Given the description of an element on the screen output the (x, y) to click on. 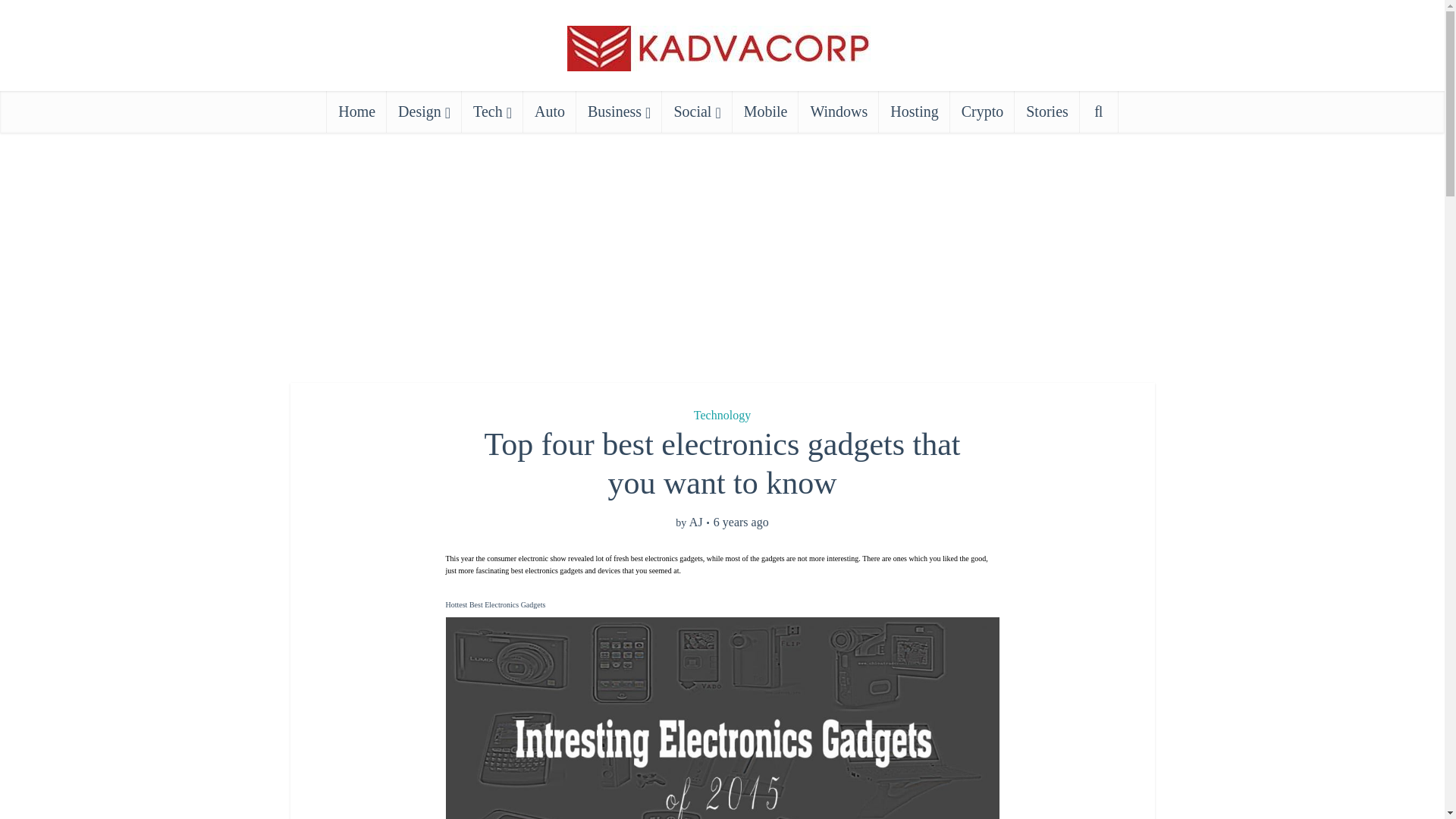
Mobile (765, 111)
Home (356, 111)
Business (619, 111)
Windows (838, 111)
Technology (722, 414)
Auto (549, 111)
Design (424, 111)
Hosting (914, 111)
Stories (1047, 111)
Tech (491, 111)
